Given the description of an element on the screen output the (x, y) to click on. 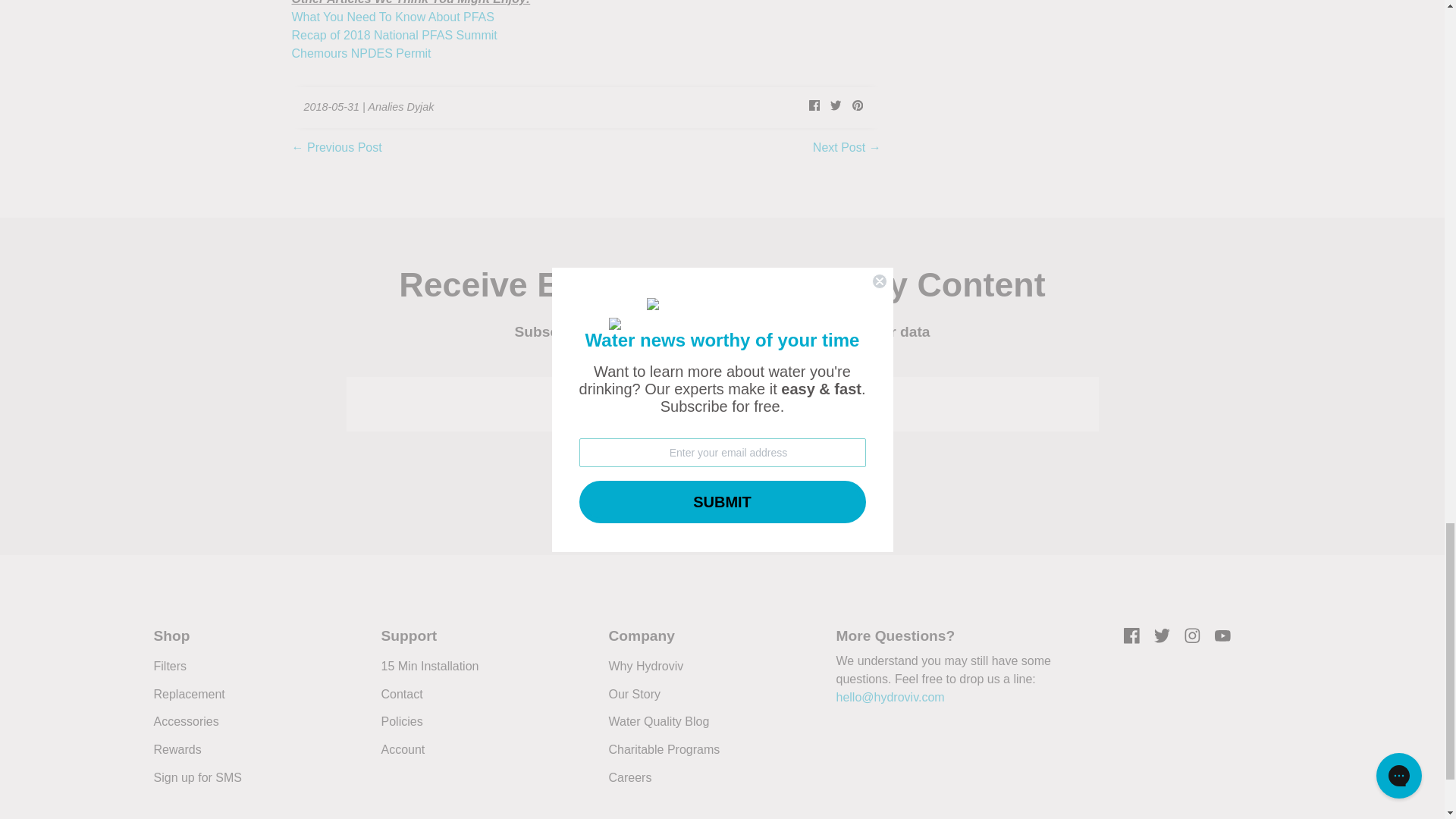
what you need to know about pfas (392, 16)
What You Need To Know About PFAS (392, 16)
Chemours NPDES Permit (360, 52)
Previous Post (344, 146)
Chemours NC NPDES Permit  (360, 52)
Recap of 2018 National PFAS Summit (393, 34)
Next Post (838, 146)
recap of EPA PFAS Summit  (393, 34)
